Given the description of an element on the screen output the (x, y) to click on. 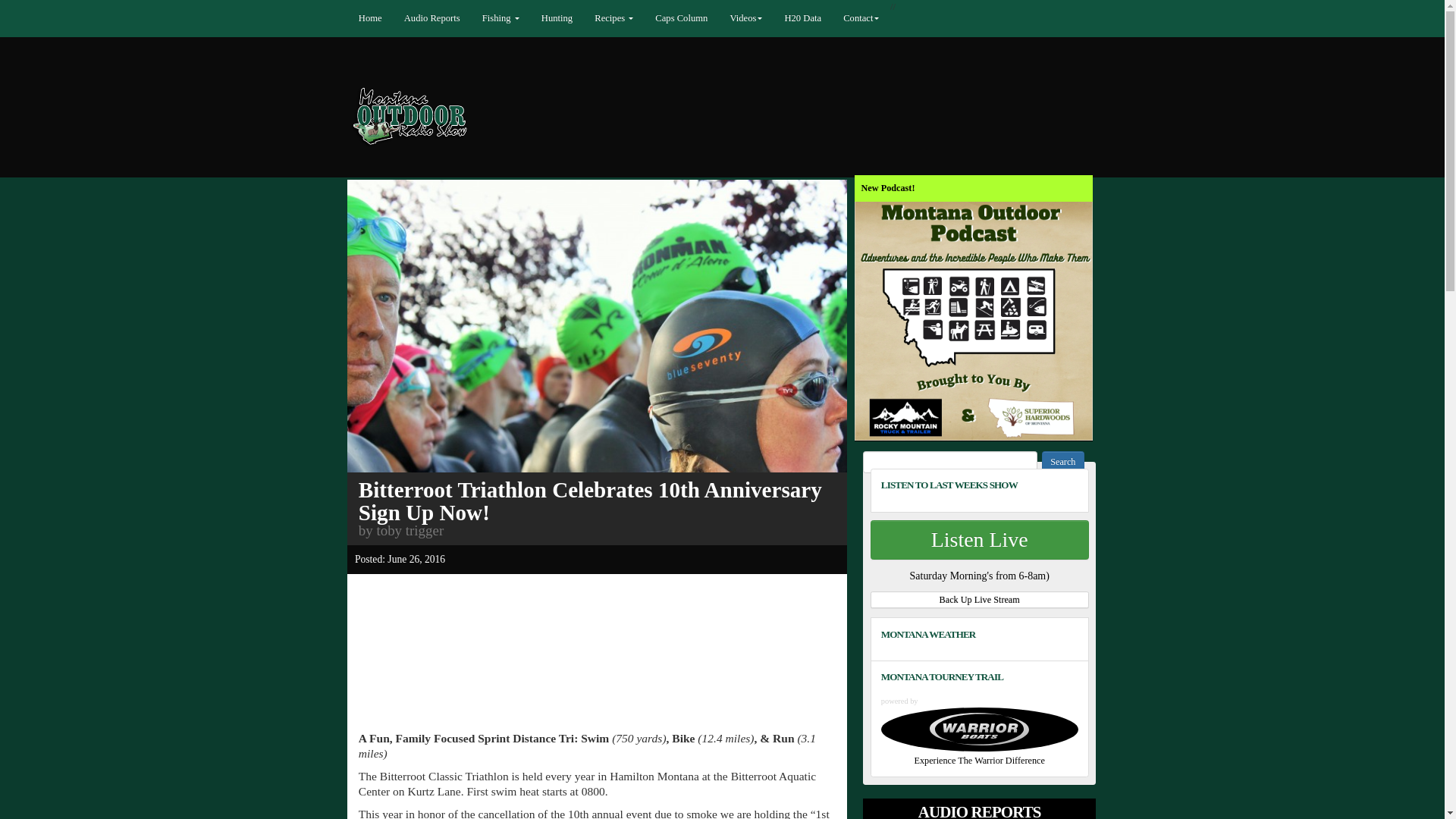
Contact (888, 18)
Search (1217, 529)
Audio Reports (444, 18)
H20 Data (826, 18)
Fishing (515, 18)
Caps Column (702, 18)
Home (381, 18)
Recipes (632, 18)
Hunting (574, 18)
Advertisement (599, 695)
Advertisement (599, 624)
Videos (768, 18)
